Given the description of an element on the screen output the (x, y) to click on. 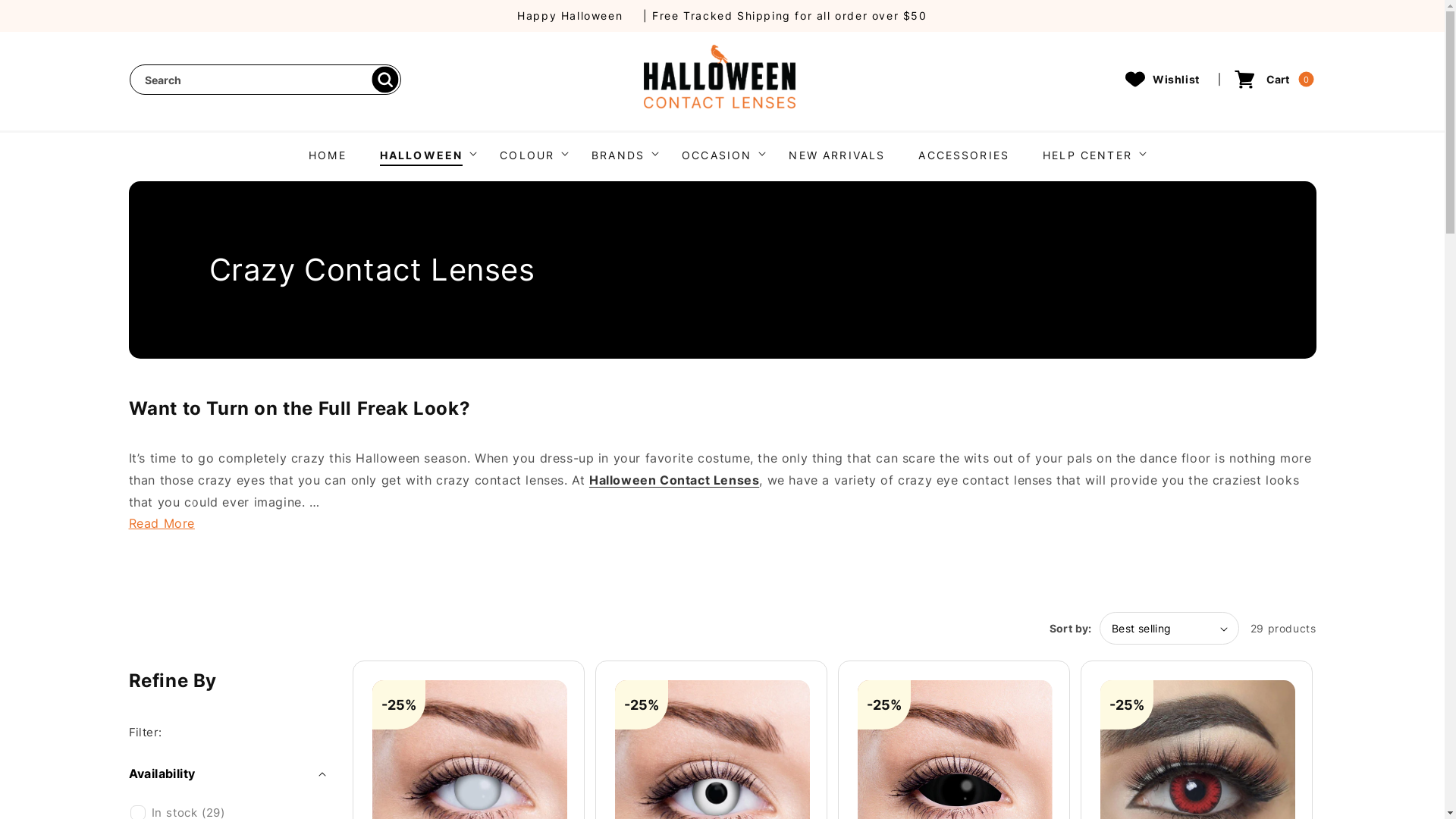
Halloween Contact Lenses Element type: text (674, 479)
OCCASION Element type: text (716, 155)
HOME Element type: text (327, 153)
HALLOWEEN Element type: text (420, 155)
COLOUR Element type: text (526, 155)
ACCESSORIES Element type: text (963, 153)
HELP CENTER Element type: text (1087, 155)
Wishlist Element type: text (1162, 78)
NEW ARRIVALS Element type: text (836, 153)
Cart
0 Element type: text (1273, 78)
BRANDS Element type: text (617, 155)
